Given the description of an element on the screen output the (x, y) to click on. 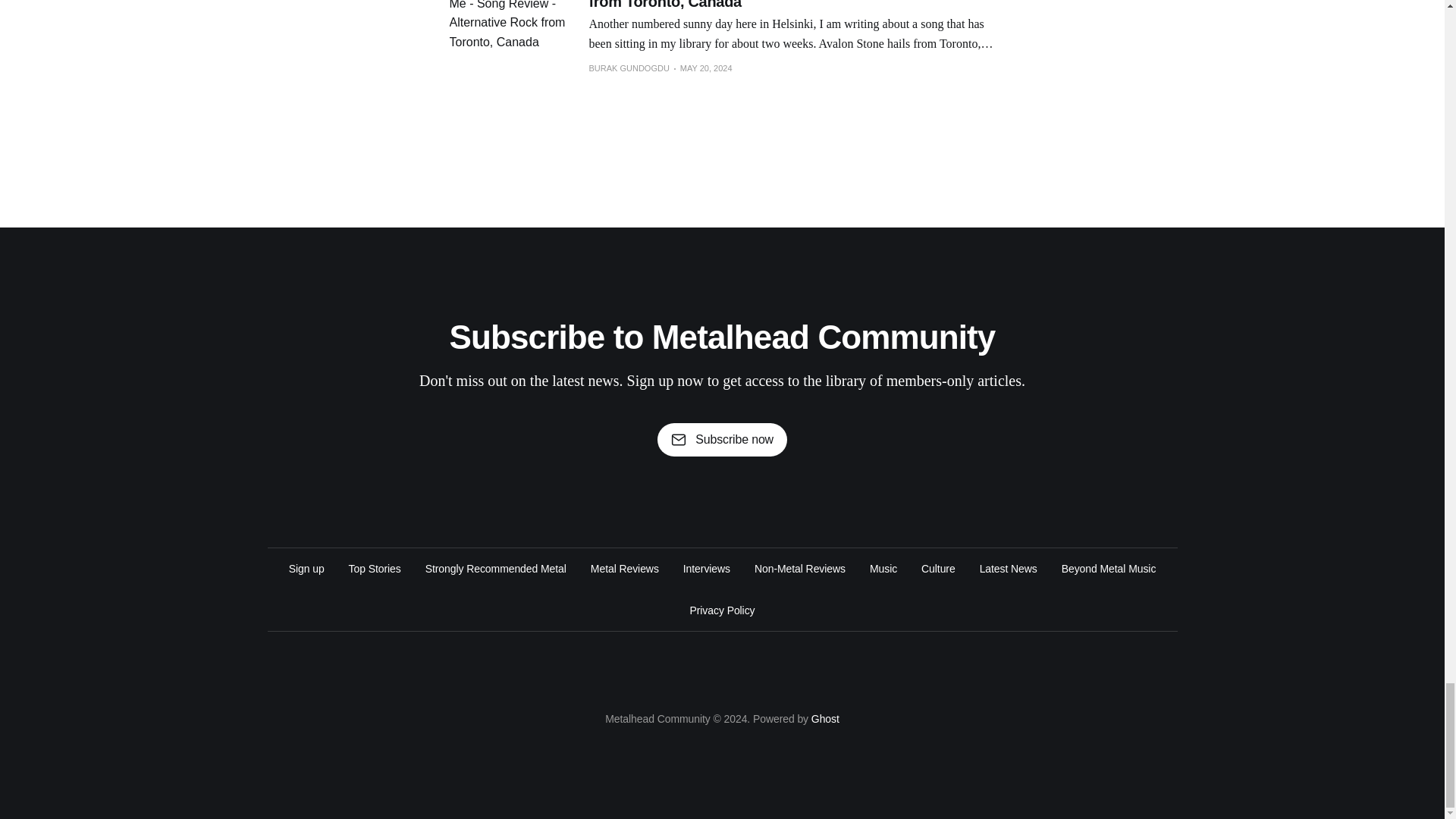
Sign up (306, 568)
Interviews (706, 568)
Subscribe now (722, 439)
Latest News (1007, 568)
Beyond Metal Music (1108, 568)
Ghost (825, 718)
Metal Reviews (625, 568)
Music (882, 568)
Top Stories (375, 568)
Culture (938, 568)
Strongly Recommended Metal (495, 568)
Non-Metal Reviews (799, 568)
Privacy Policy (722, 610)
